Given the description of an element on the screen output the (x, y) to click on. 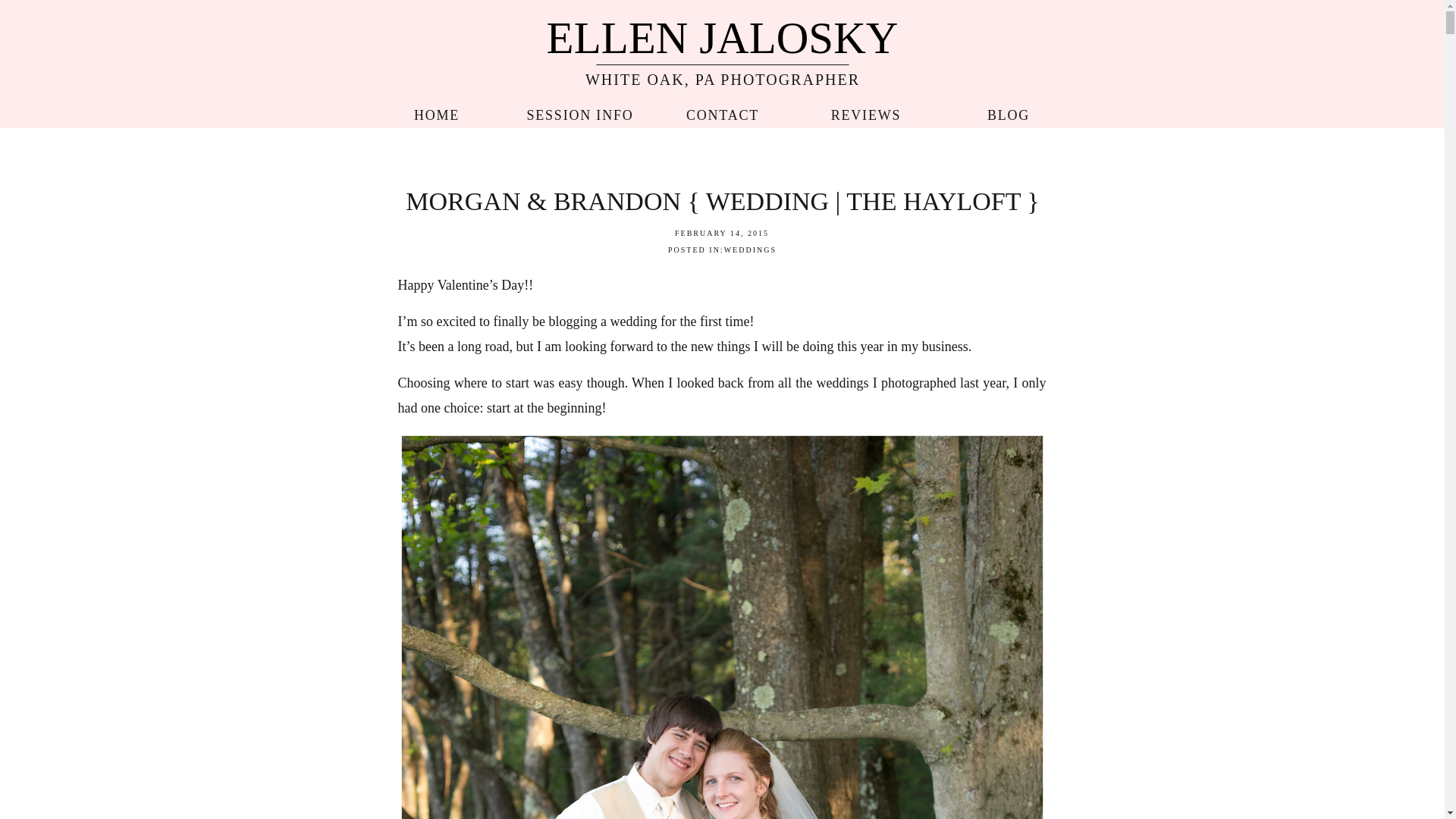
BLOG (1008, 110)
SESSION INFO (580, 110)
CONTACT (722, 110)
HOME (436, 110)
REVIEWS (865, 110)
ELLEN JALOSKY (721, 34)
WEDDINGS (749, 249)
